Given the description of an element on the screen output the (x, y) to click on. 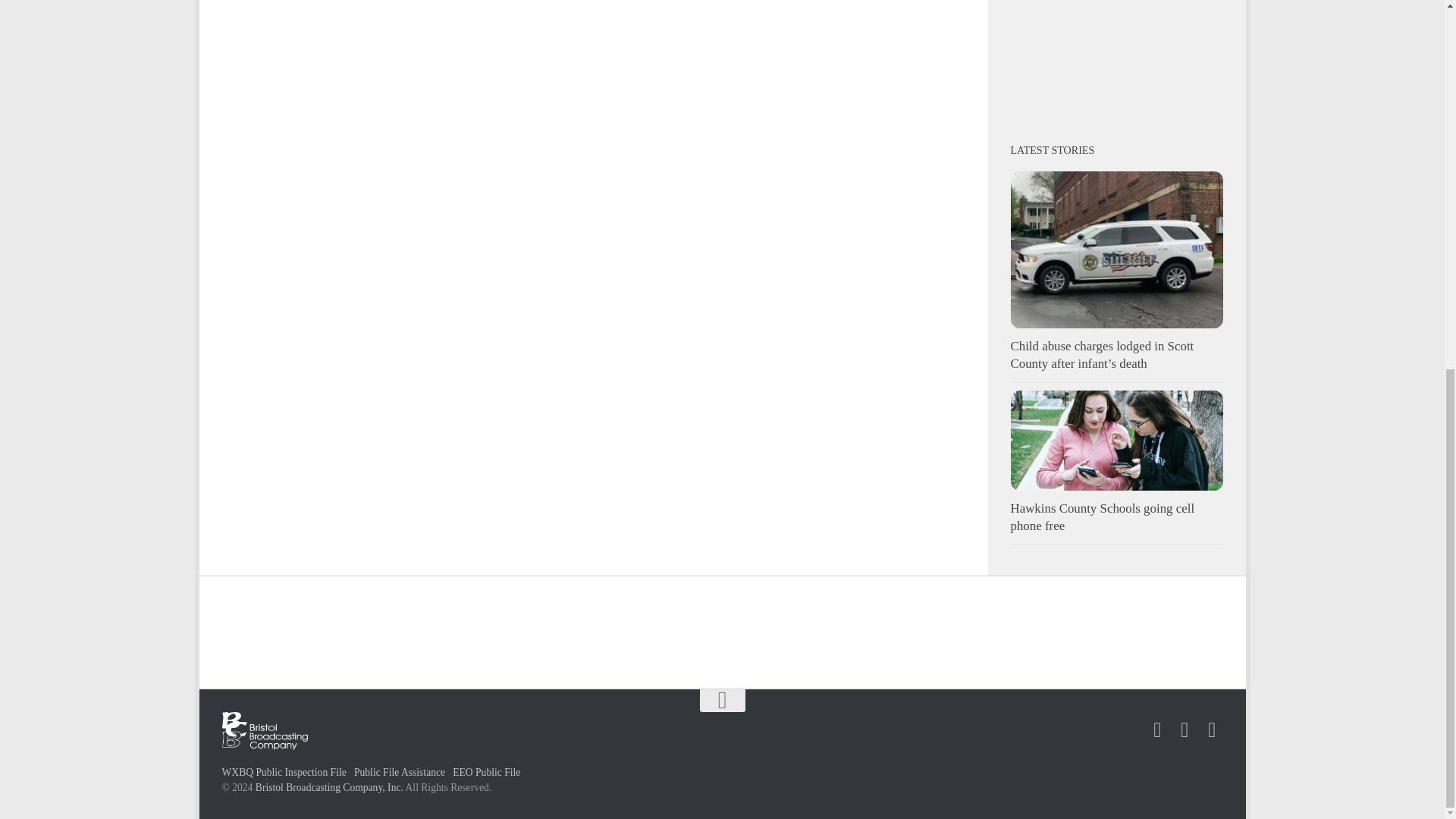
Follow us on Twitter (1184, 730)
Follow us on Instagram (1212, 730)
Follow us on Facebook (1157, 730)
